Given the description of an element on the screen output the (x, y) to click on. 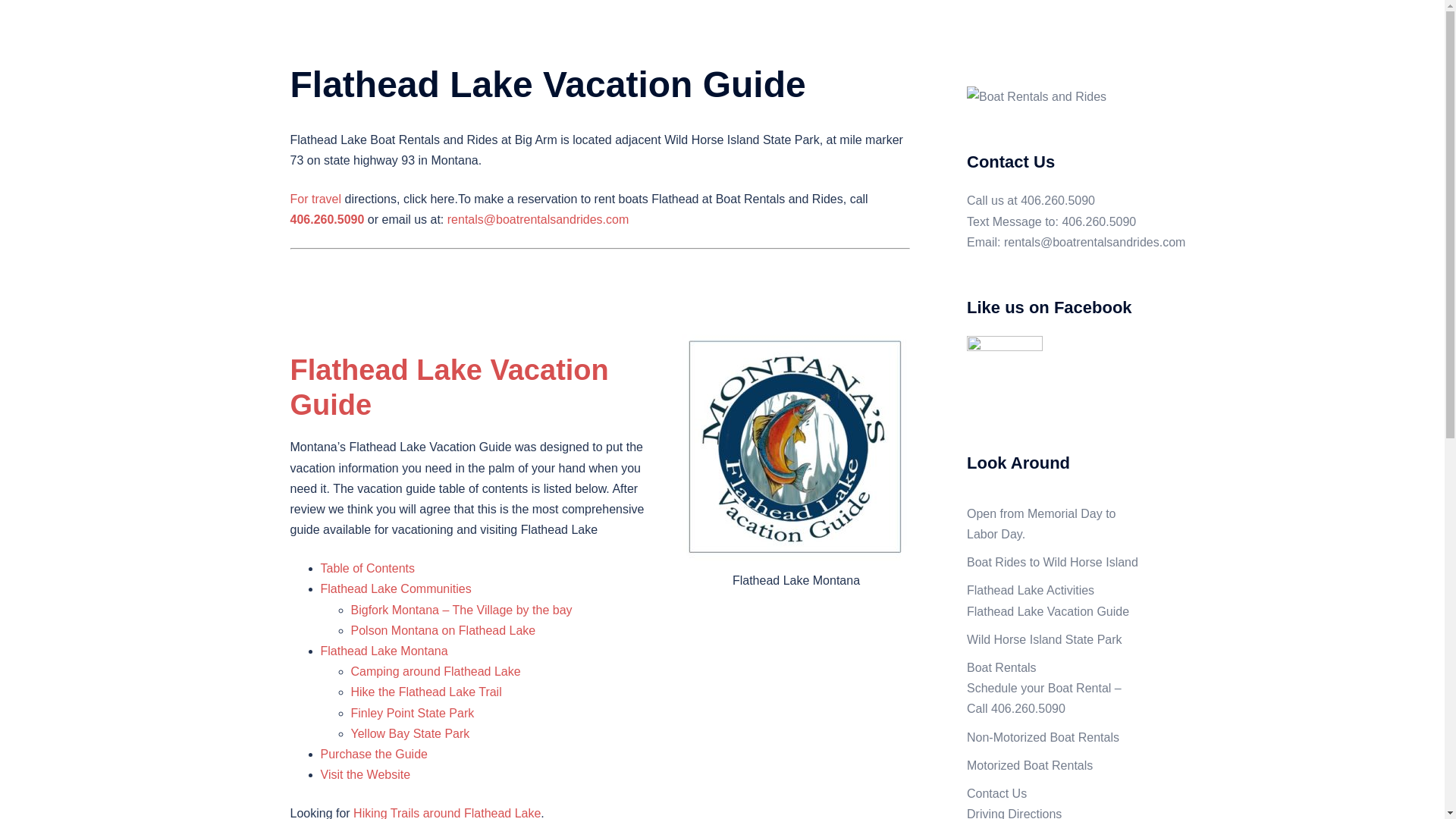
Contact Us (704, 47)
Hiking Trails around Flathead Lake (446, 812)
Open from Memorial Day to Labor Day. (687, 29)
Boat Rentals and Rides (424, 29)
Camping around Flathead Lake (434, 671)
Visit the Website (365, 774)
Polson Montana on Flathead Lake (442, 630)
For travel (314, 198)
Flathead Lake Activities (1028, 29)
Hike the Flathead Lake Trail (425, 691)
Purchase the Guide (373, 753)
Offroad Rides (936, 47)
Finley Point State Park (412, 712)
406.260.5090 (1057, 200)
Flathead Lake Montana (383, 650)
